Given the description of an element on the screen output the (x, y) to click on. 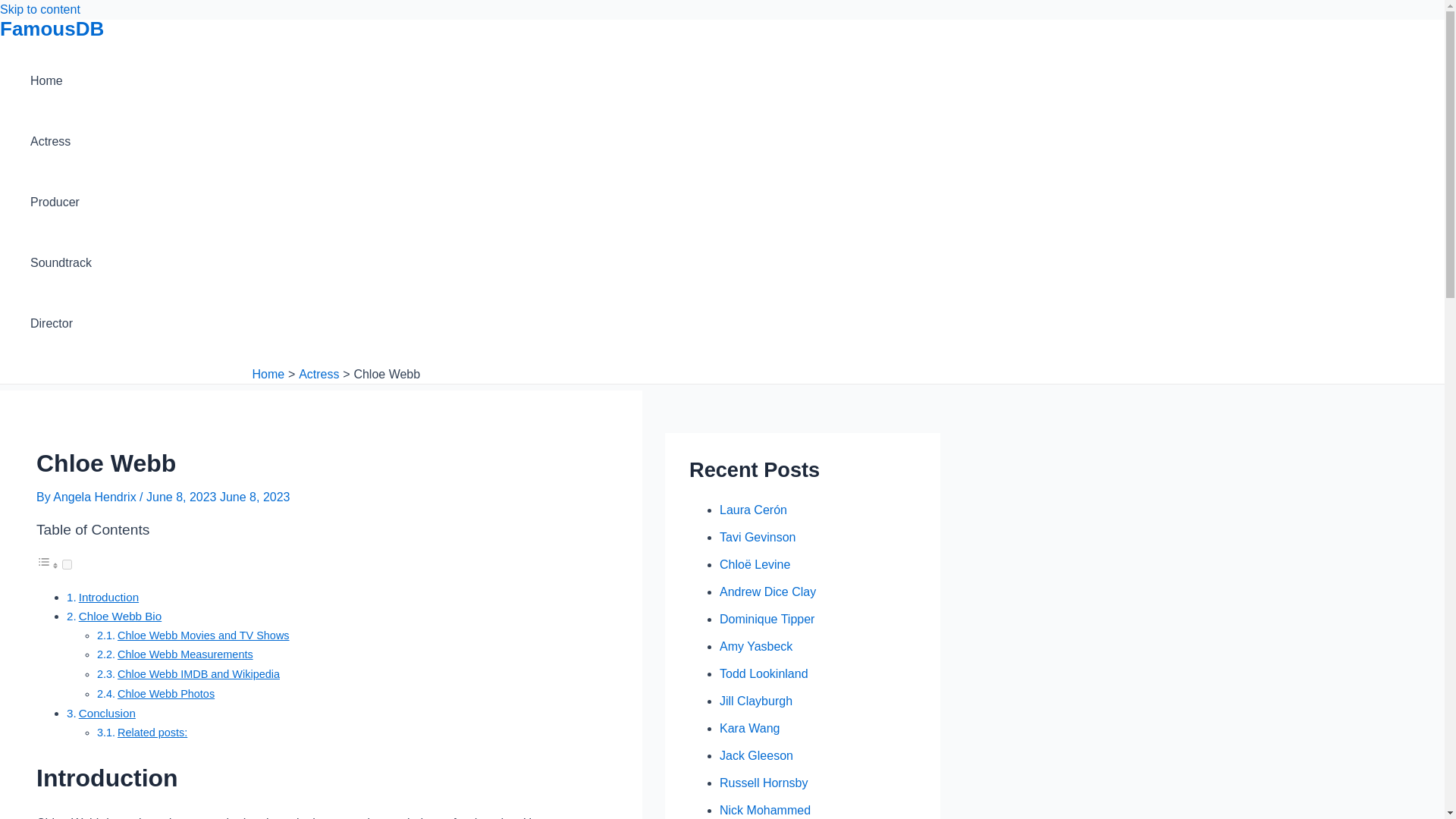
Related posts: (152, 732)
Russell Hornsby (763, 782)
Chloe Webb Bio (119, 615)
Home (60, 80)
Jill Clayburgh (755, 700)
Introduction (108, 596)
Skip to content (40, 9)
Chloe Webb Movies and TV Shows (203, 635)
Chloe Webb Photos (165, 693)
Related posts: (152, 732)
